Given the description of an element on the screen output the (x, y) to click on. 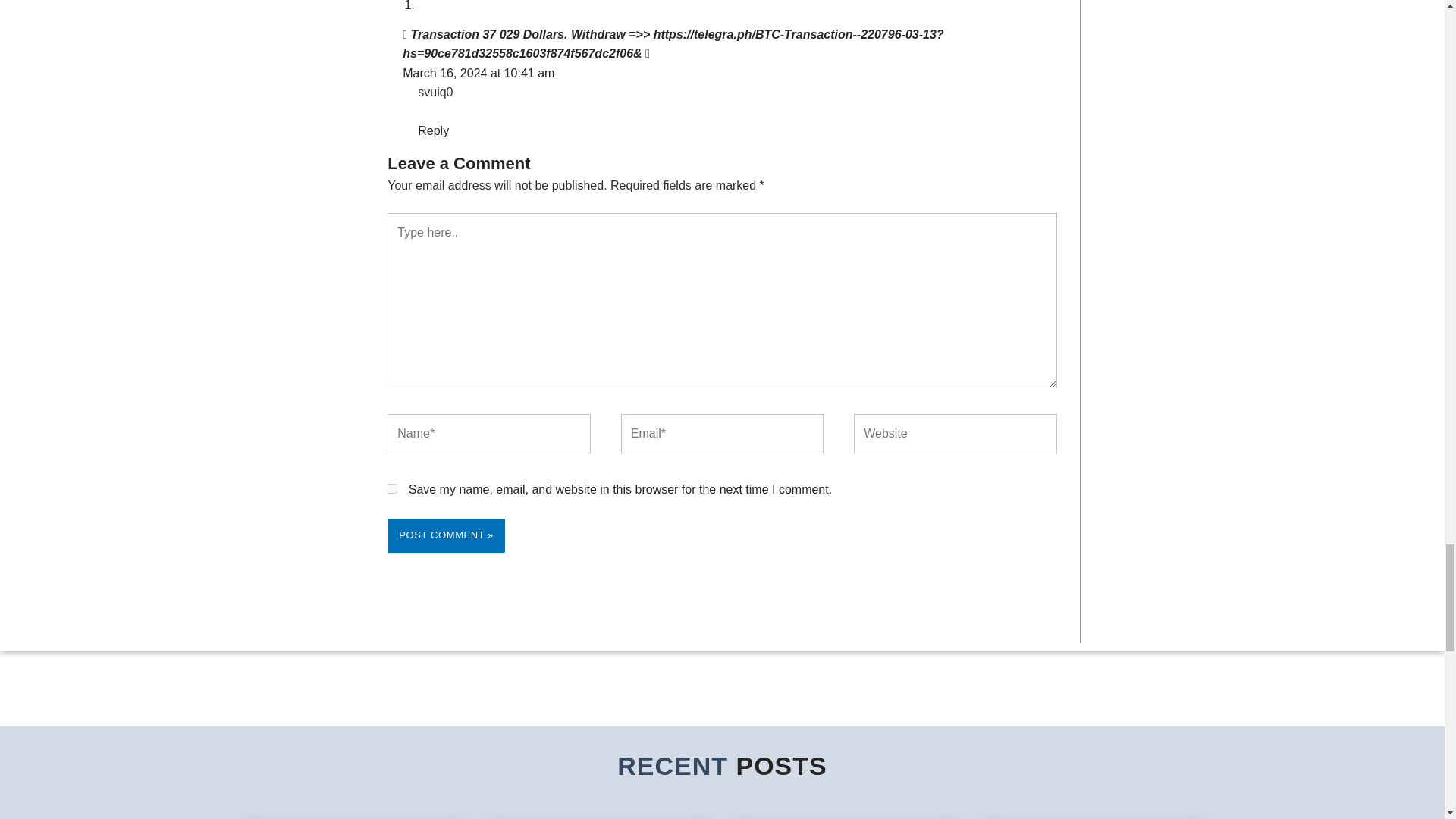
yes (392, 488)
